Given the description of an element on the screen output the (x, y) to click on. 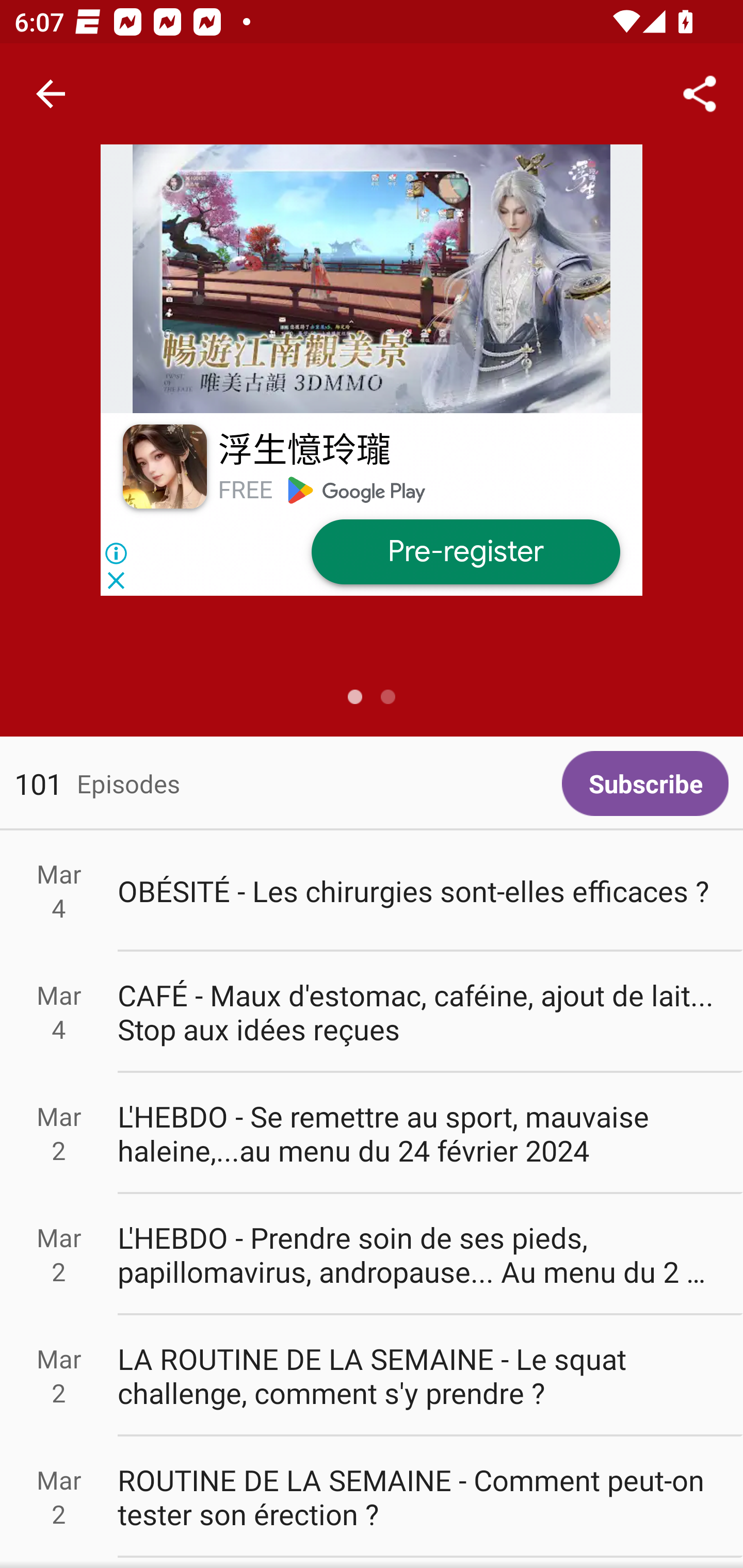
Navigate up (50, 93)
Share... (699, 93)
浮生憶玲瓏 (303, 451)
FREE (245, 489)
Pre-register (464, 551)
Subscribe (644, 783)
